Given the description of an element on the screen output the (x, y) to click on. 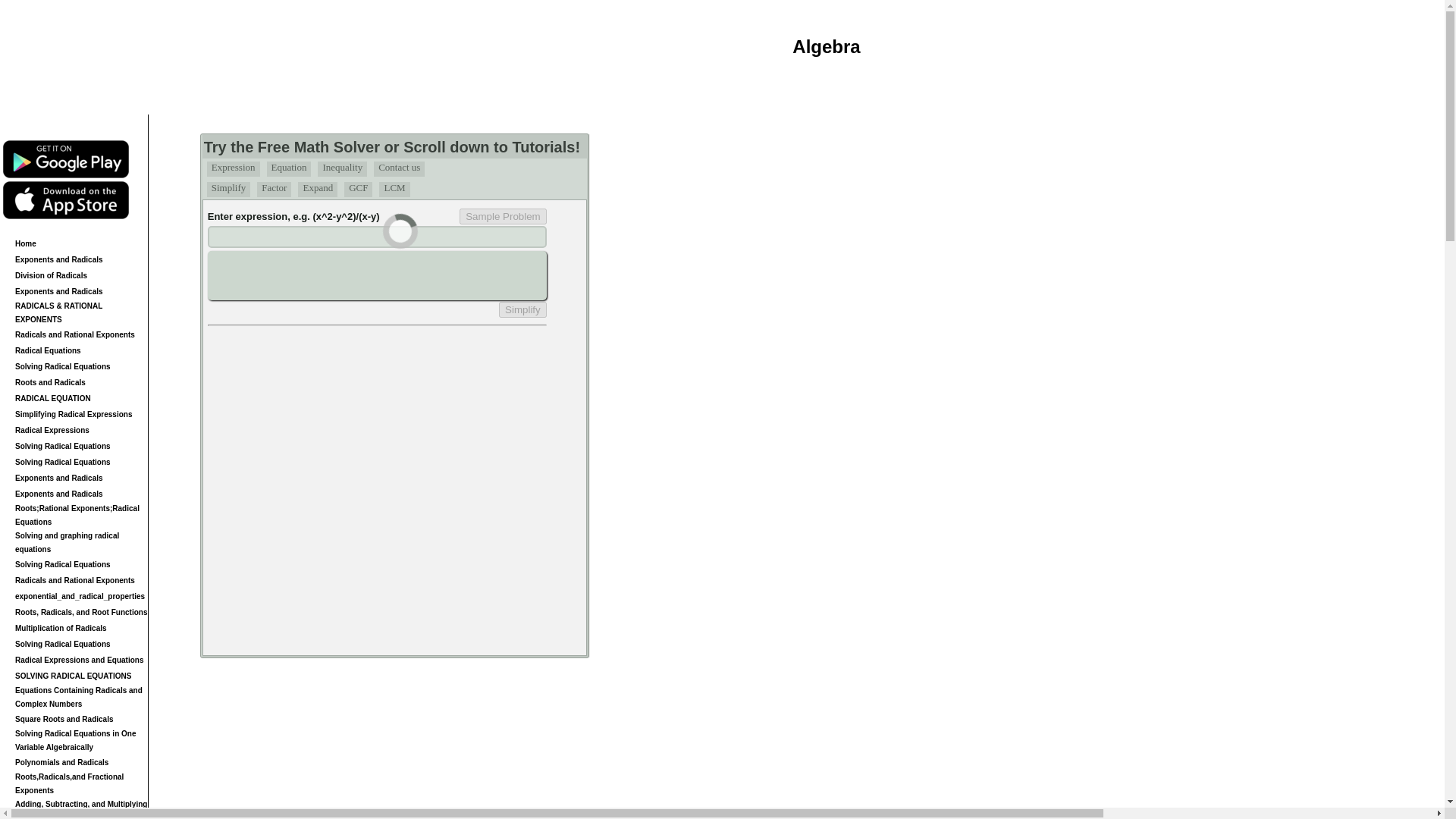
Solving Radical Equations (62, 643)
Exponents and Radicals (58, 290)
Solving Radical Equations (62, 445)
Home (25, 243)
Radicals and Rational Exponents (74, 580)
Radical Equations (47, 349)
Square Roots and Radicals (63, 718)
Simplifying Radical Expressions (73, 413)
Radical Expressions (51, 429)
Exponents and Radicals (58, 477)
Roots, Radicals, and Root Functions (80, 612)
RADICAL EQUATION (52, 397)
Roots;Rational Exponents;Radical Equations (76, 515)
Roots,Radicals,and Fractional Exponents (68, 783)
Exponents and Radicals (58, 258)
